Given the description of an element on the screen output the (x, y) to click on. 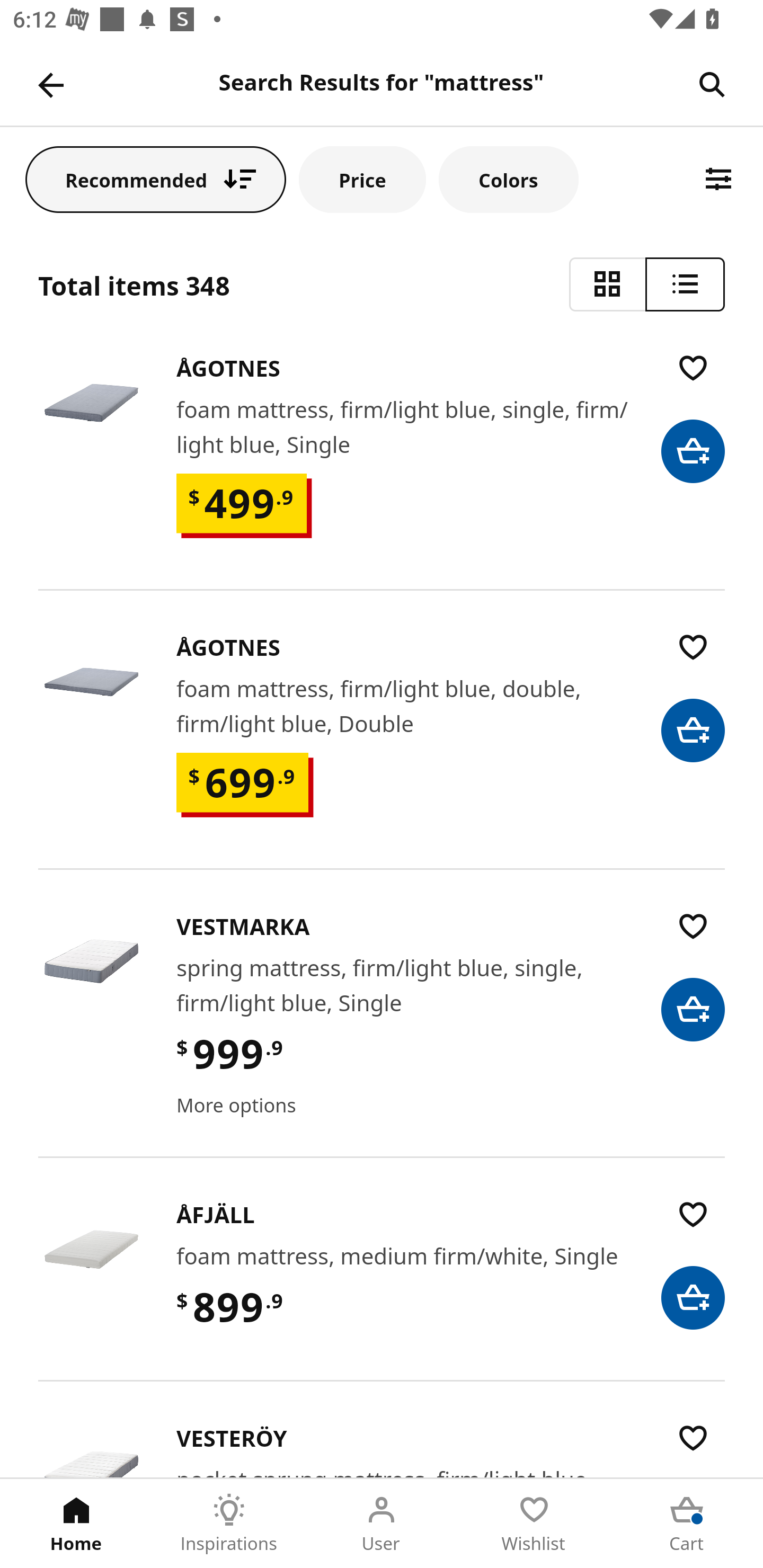
Recommended (155, 179)
Price (362, 179)
Colors (508, 179)
Home
Tab 1 of 5 (76, 1522)
Inspirations
Tab 2 of 5 (228, 1522)
User
Tab 3 of 5 (381, 1522)
Wishlist
Tab 4 of 5 (533, 1522)
Cart
Tab 5 of 5 (686, 1522)
